Given the description of an element on the screen output the (x, y) to click on. 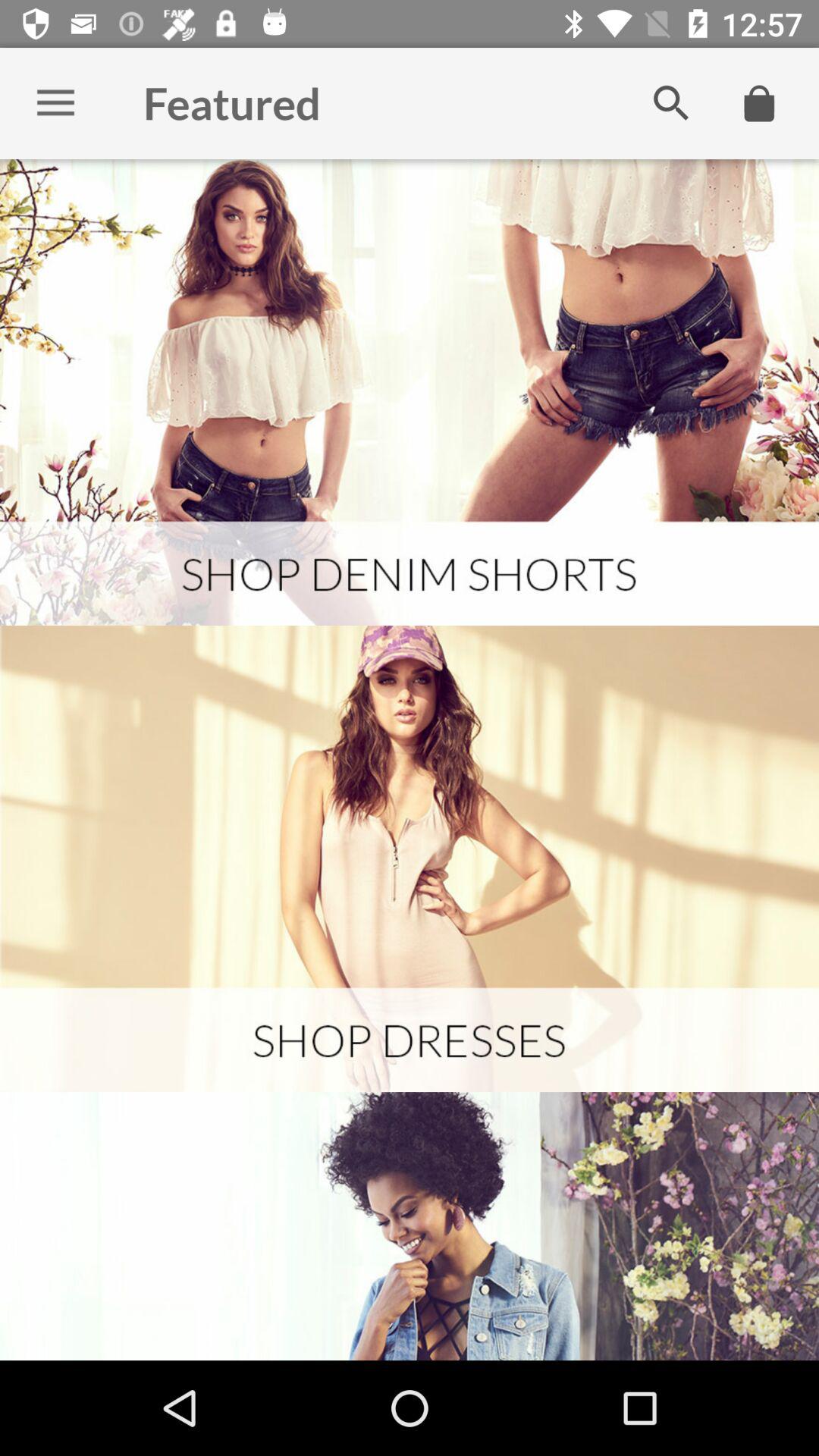
options (55, 103)
